Given the description of an element on the screen output the (x, y) to click on. 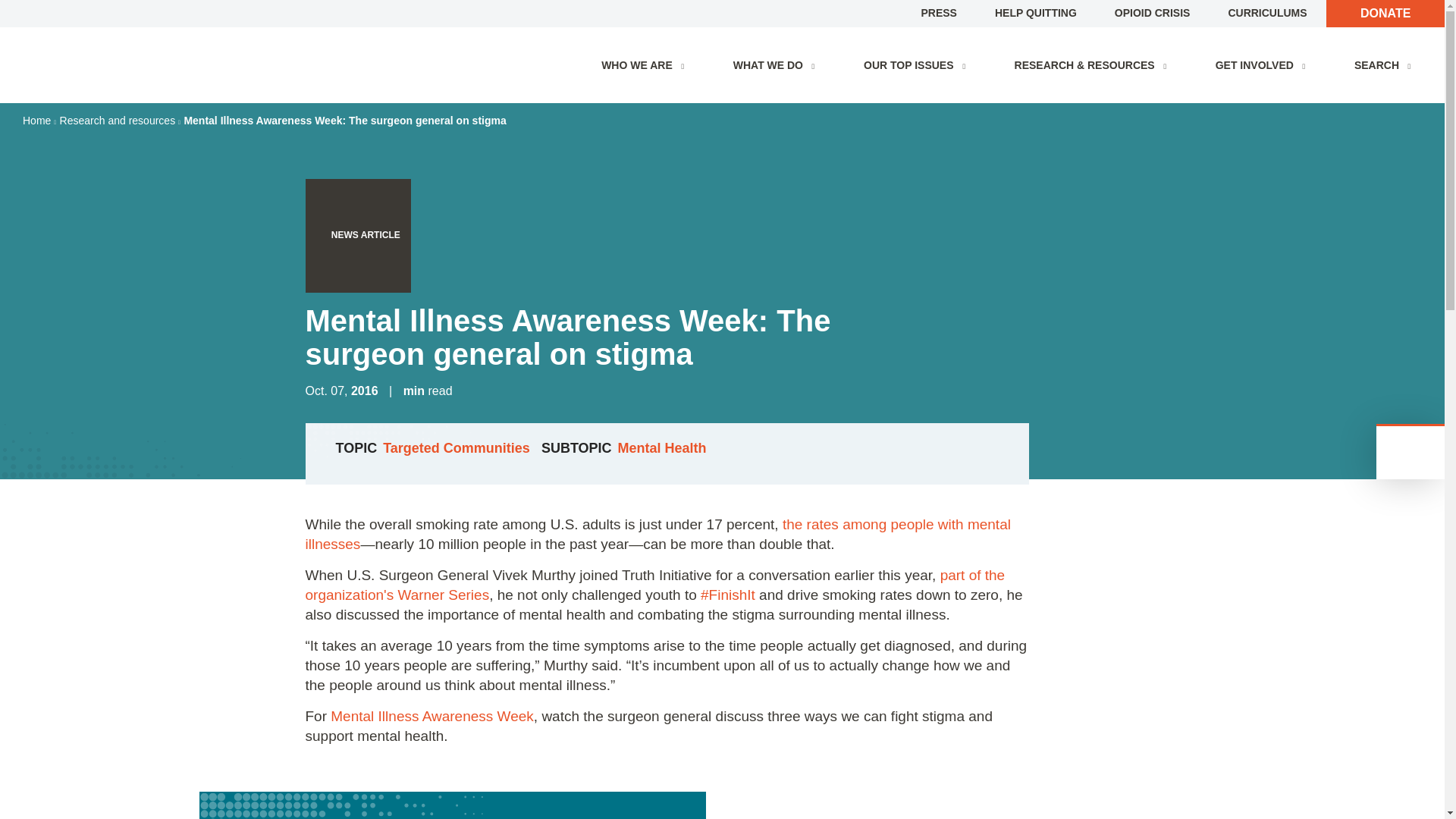
SEARCH (1385, 64)
OUR TOP ISSUES (918, 64)
DONATE (1384, 13)
WHAT WE DO (777, 64)
OPIOID CRISIS (1153, 12)
PRESS (938, 12)
CURRICULUMS (1266, 12)
HELP QUITTING (1035, 12)
GET INVOLVED (1263, 64)
